Given the description of an element on the screen output the (x, y) to click on. 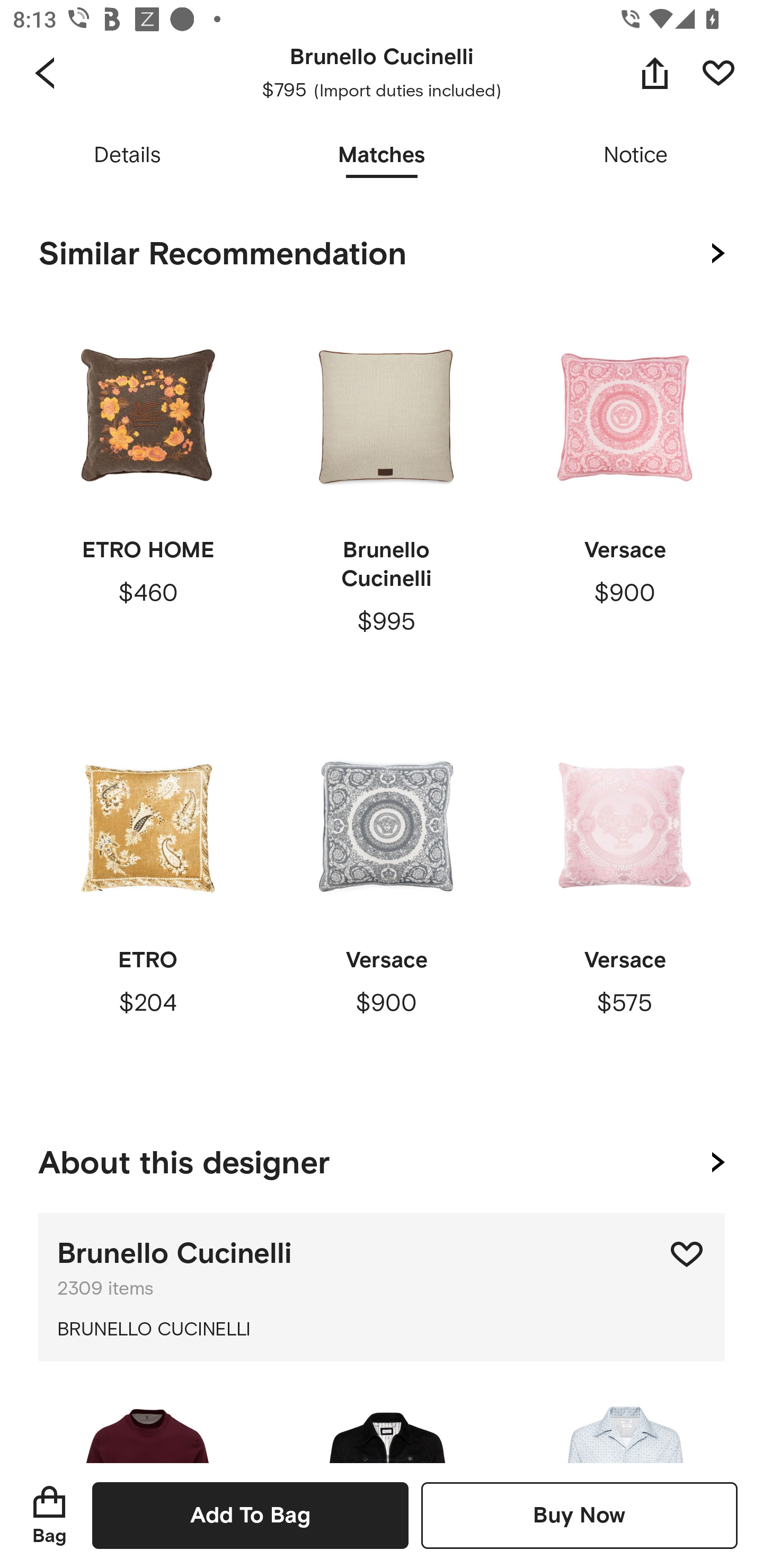
Details (127, 155)
Notice (635, 155)
Similar Recommendation (381, 253)
ETRO HOME $460 (147, 499)
Brunello Cucinelli $995 (385, 499)
Versace $900 (624, 499)
ETRO $204 (147, 909)
Versace $900 (385, 909)
Versace $575 (624, 909)
About this designer (381, 1159)
Brunello Cucinelli 2309 items BRUNELLO CUCINELLI (381, 1287)
BRUNELLO CUCINELLI (381, 1329)
Bag (49, 1515)
Add To Bag (250, 1515)
Buy Now (579, 1515)
